Given the description of an element on the screen output the (x, y) to click on. 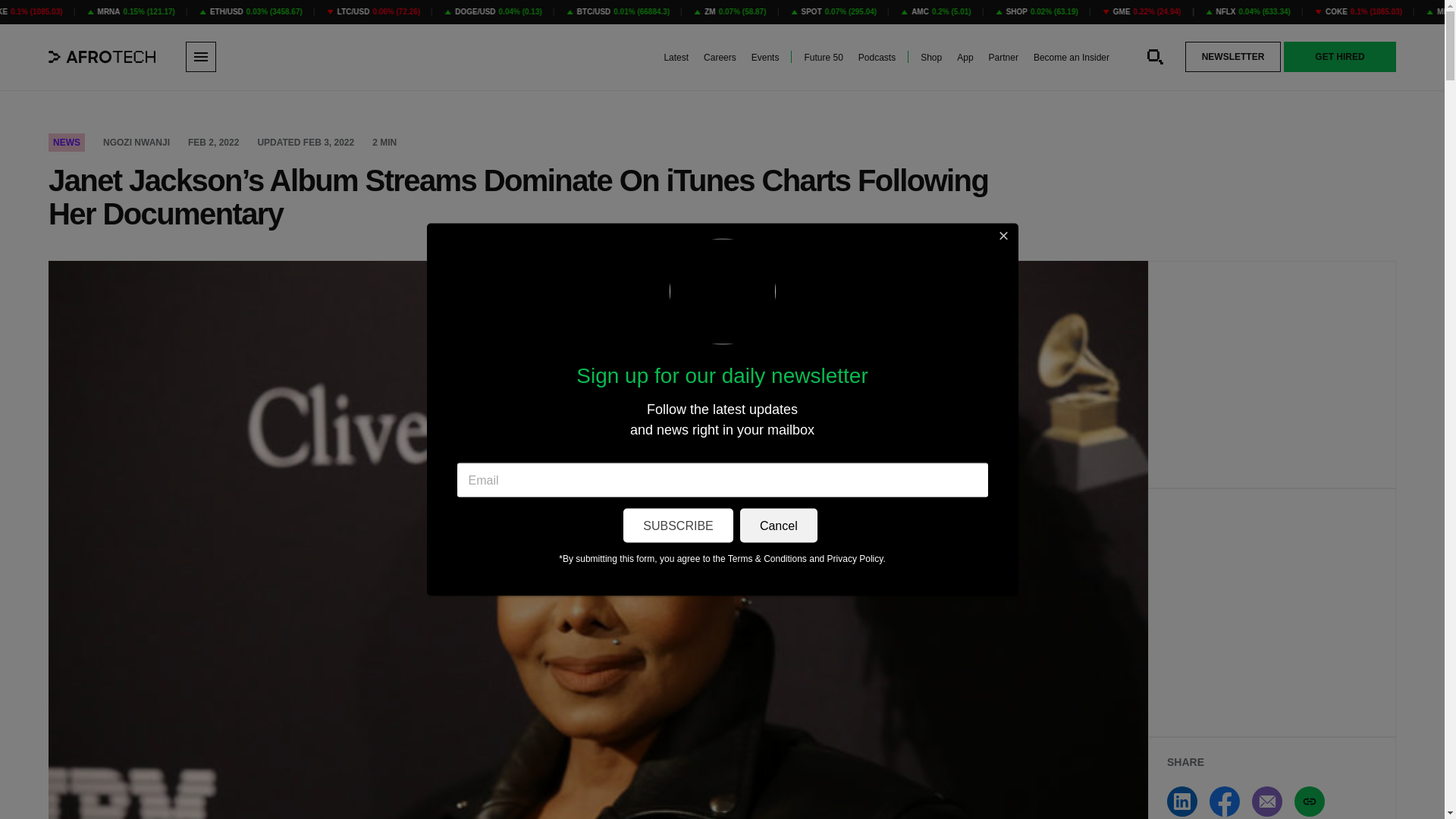
GET HIRED (1340, 56)
Future 50 (823, 57)
NEWSLETTER (1233, 56)
3rd party ad content (1272, 612)
NGOZI NWANJI (136, 142)
3rd party ad content (1272, 374)
Become an Insider (1071, 57)
Podcasts (877, 57)
Latest (675, 57)
Events (764, 57)
Careers (719, 57)
App (964, 57)
Shop (931, 57)
NEWS (66, 142)
Partner (1002, 57)
